Given the description of an element on the screen output the (x, y) to click on. 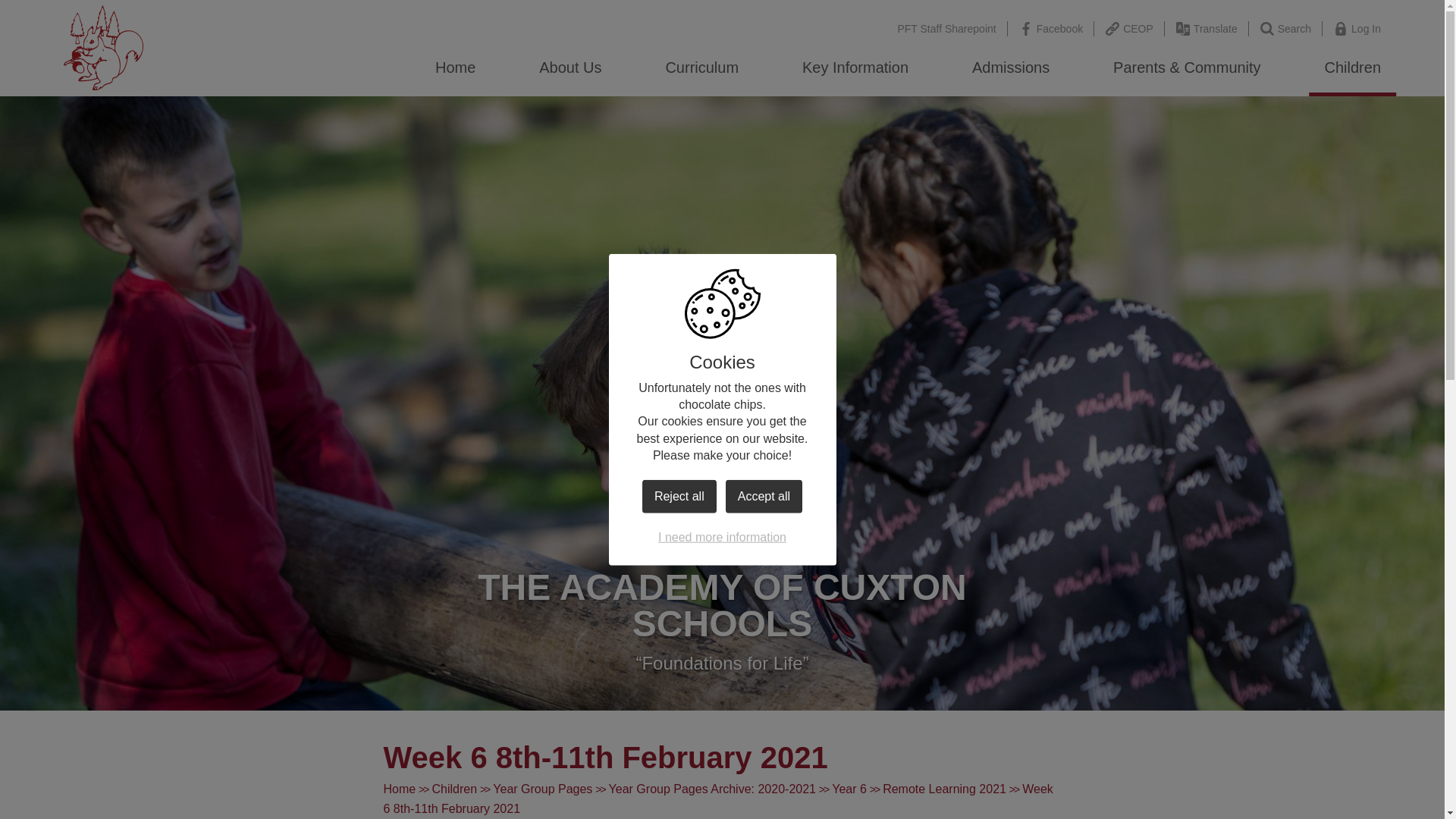
Facebook (1050, 29)
Home (455, 67)
PFT Staff Sharepoint (946, 29)
Curriculum (701, 67)
About Us (569, 67)
Home Page (104, 47)
CEOP (1129, 29)
Log in (1356, 29)
